Given the description of an element on the screen output the (x, y) to click on. 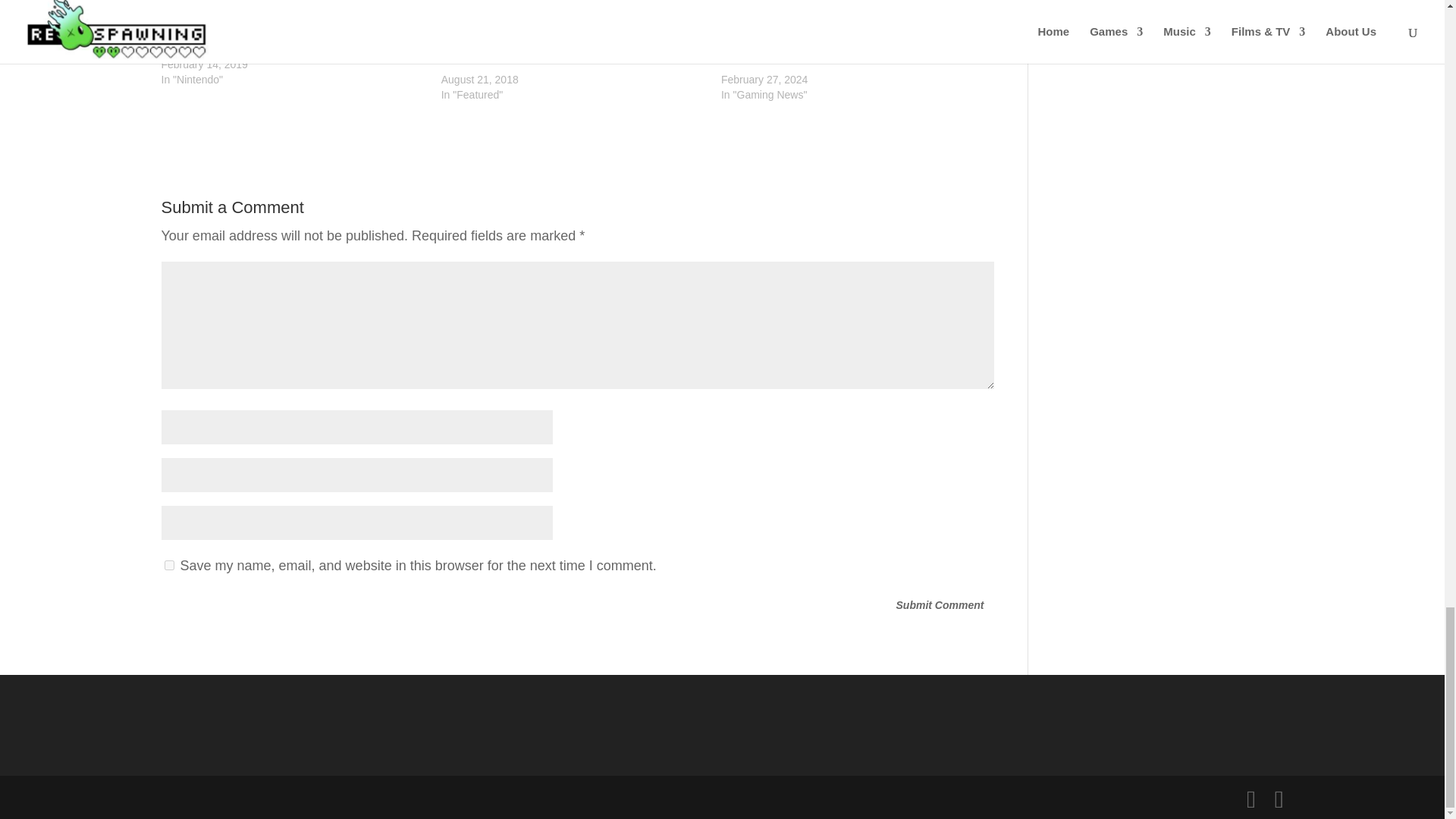
yes (168, 565)
Submit Comment (939, 605)
